Given the description of an element on the screen output the (x, y) to click on. 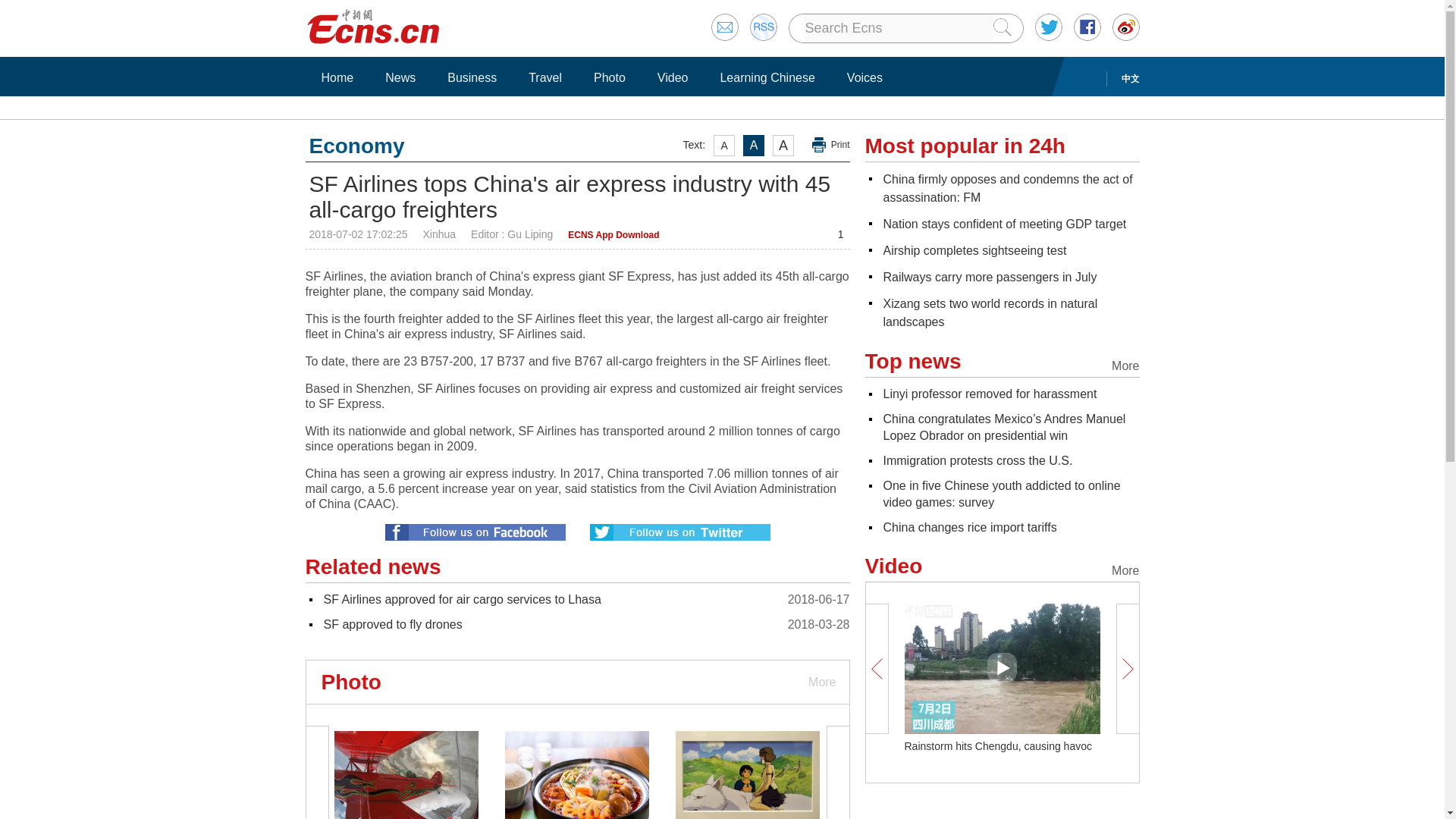
ECNS App Download (613, 235)
Home (337, 77)
Photo (609, 77)
Railways (989, 277)
Learning Chinese (766, 77)
SF Airlines approved for air cargo services to Lhasa (461, 599)
China (1007, 187)
Xizang (989, 312)
Voices (864, 77)
Print (831, 144)
